Given the description of an element on the screen output the (x, y) to click on. 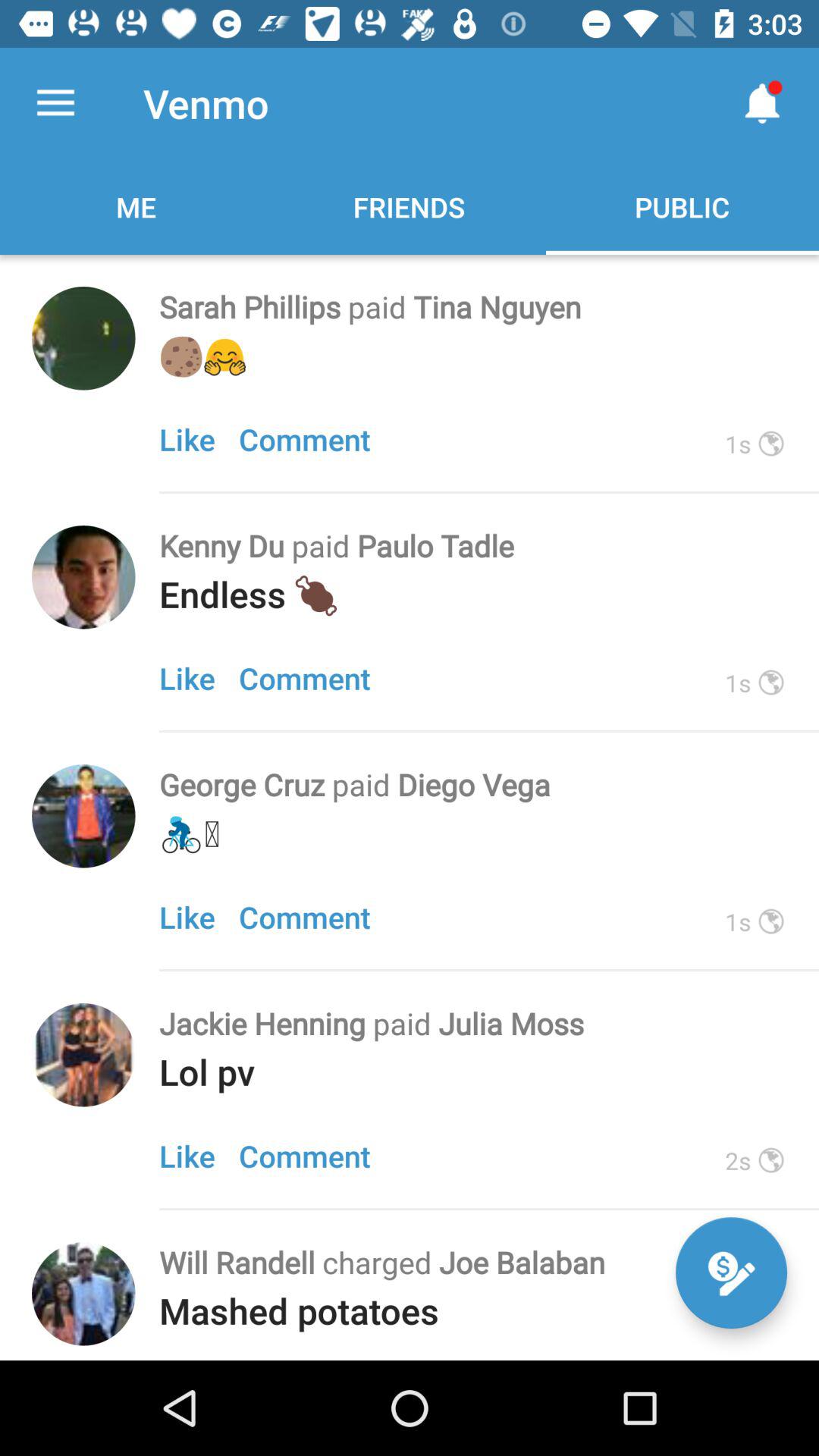
click on the photo (83, 577)
